Given the description of an element on the screen output the (x, y) to click on. 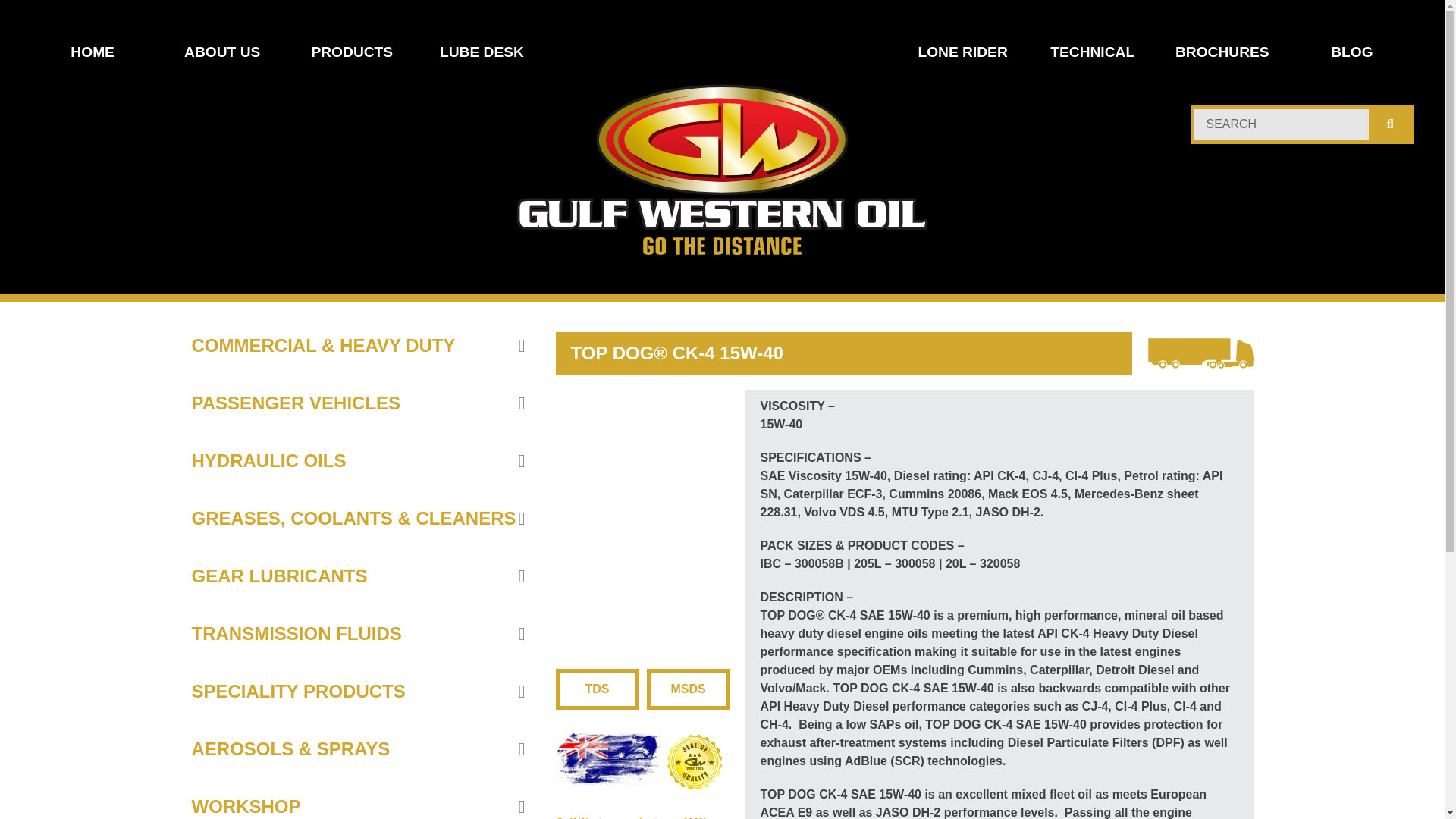
PRODUCTS (351, 52)
HYDRAULIC OILS (357, 460)
PASSENGER VEHICLES (357, 403)
ABOUT US (221, 52)
LUBE DESK (481, 52)
HOME (92, 52)
BROCHURES (1222, 52)
SPECIALITY PRODUCTS (357, 691)
BLOG (1351, 52)
TRANSMISSION FLUIDS (357, 633)
